Given the description of an element on the screen output the (x, y) to click on. 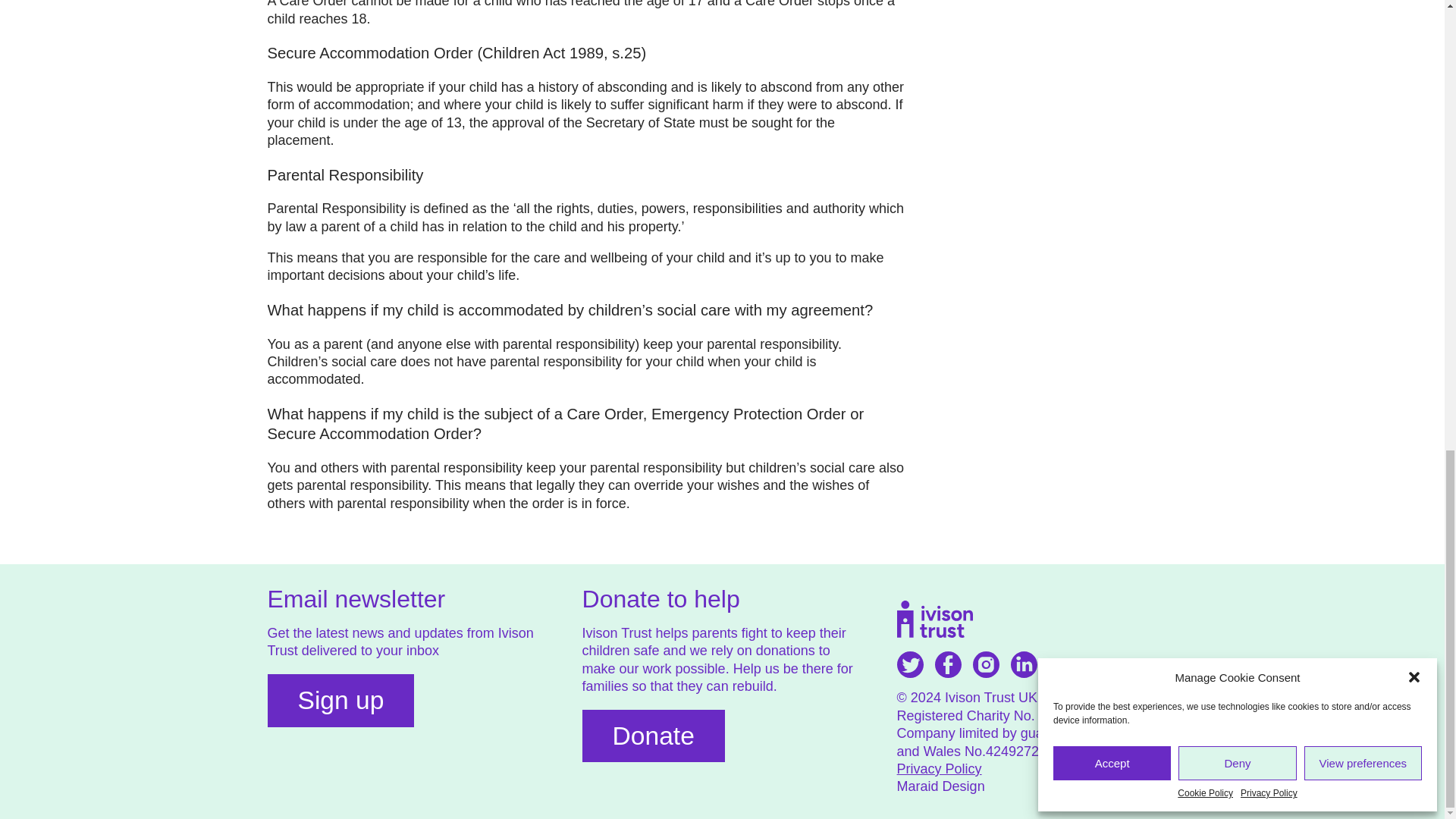
Donate (653, 736)
Privacy Policy (938, 768)
Sign up (339, 700)
